Given the description of an element on the screen output the (x, y) to click on. 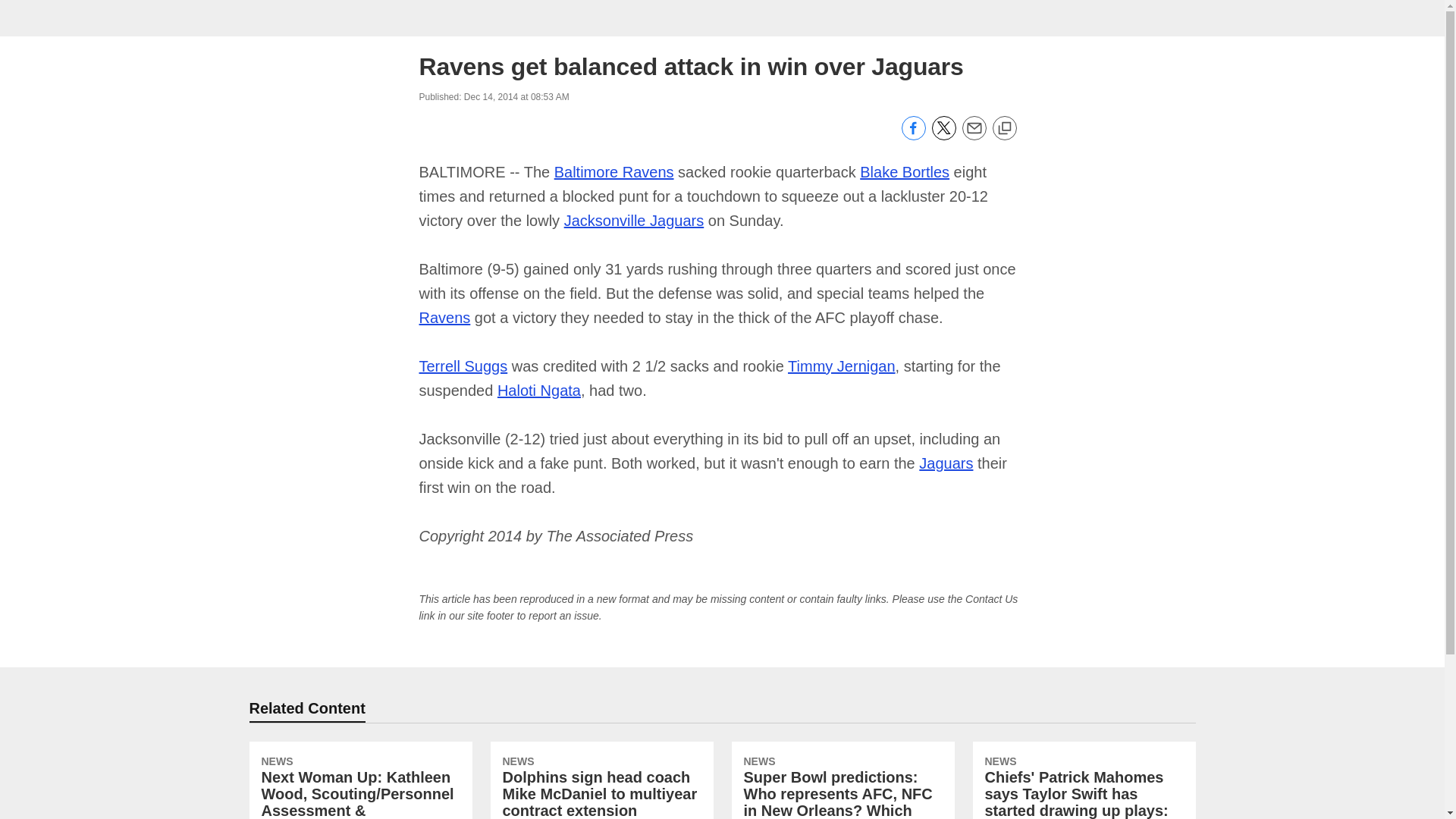
Jaguars (945, 463)
Ravens (444, 317)
Haloti Ngata (538, 390)
Blake Bortles (904, 171)
Baltimore Ravens (614, 171)
Jacksonville Jaguars (634, 220)
Send email (972, 136)
